Given the description of an element on the screen output the (x, y) to click on. 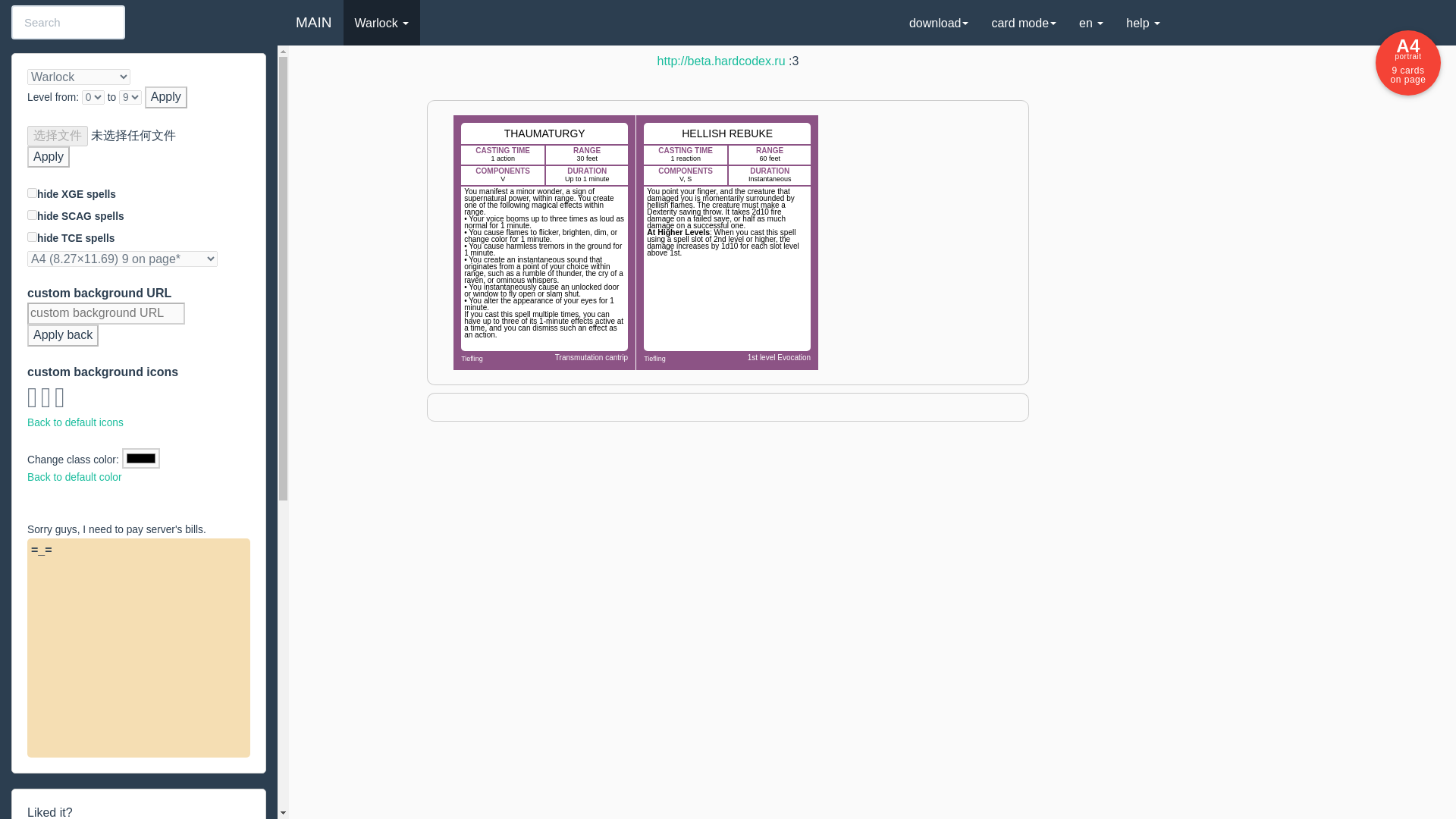
Apply (165, 97)
Apply back (63, 335)
Apply (48, 157)
en (1091, 22)
Warlock (381, 22)
1 (32, 193)
download (938, 22)
MAIN (313, 22)
card mode (1023, 22)
1 (32, 214)
